Given the description of an element on the screen output the (x, y) to click on. 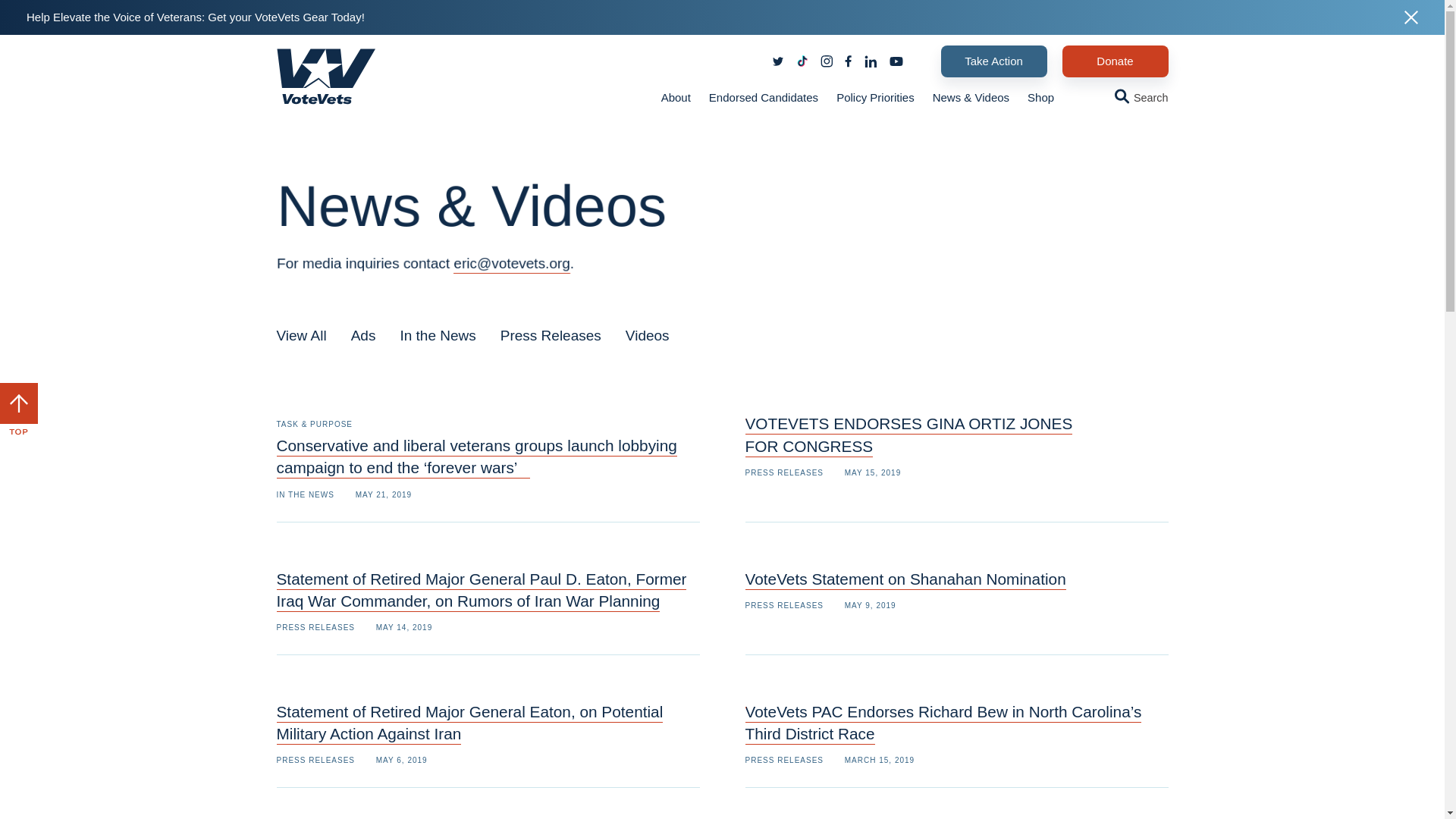
Link to twitter (777, 61)
Videos (647, 335)
PRESS RELEASES (314, 627)
Endorsed Candidates (763, 96)
View All (1114, 60)
About (301, 335)
Link to tiktok (676, 96)
Link to youtube (802, 61)
PRESS RELEASES (895, 61)
Take Action (783, 472)
Link to linkedin (993, 60)
Home (870, 61)
